Given the description of an element on the screen output the (x, y) to click on. 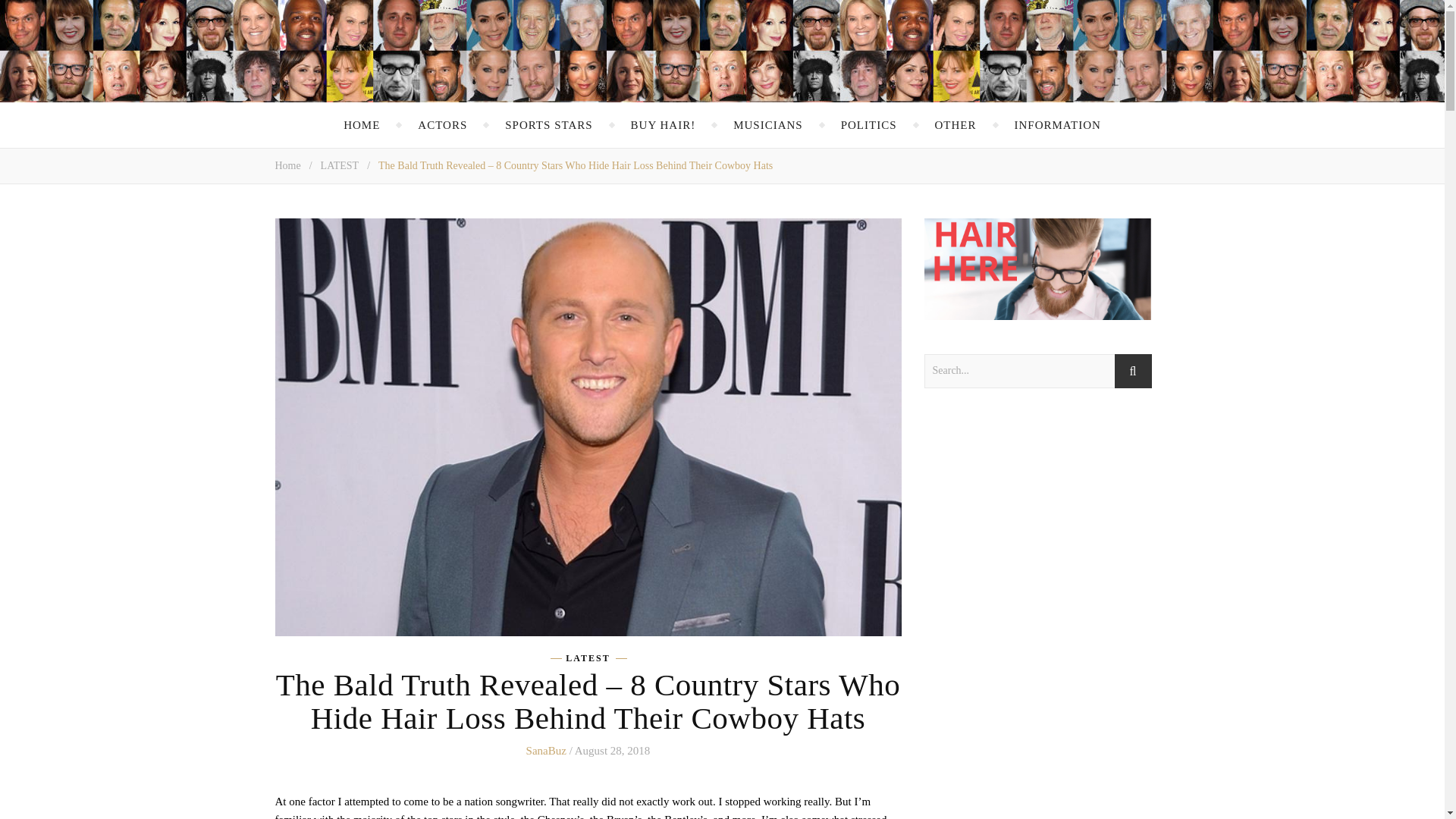
OTHER (954, 125)
SPORTS STARS (548, 125)
LATEST (339, 165)
POLITICS (868, 125)
BUY HAIR! (662, 125)
MUSICIANS (768, 125)
Home (287, 165)
ACTORS (442, 125)
INFORMATION (1057, 125)
Advertisement (1037, 620)
HOME (361, 125)
